Given the description of an element on the screen output the (x, y) to click on. 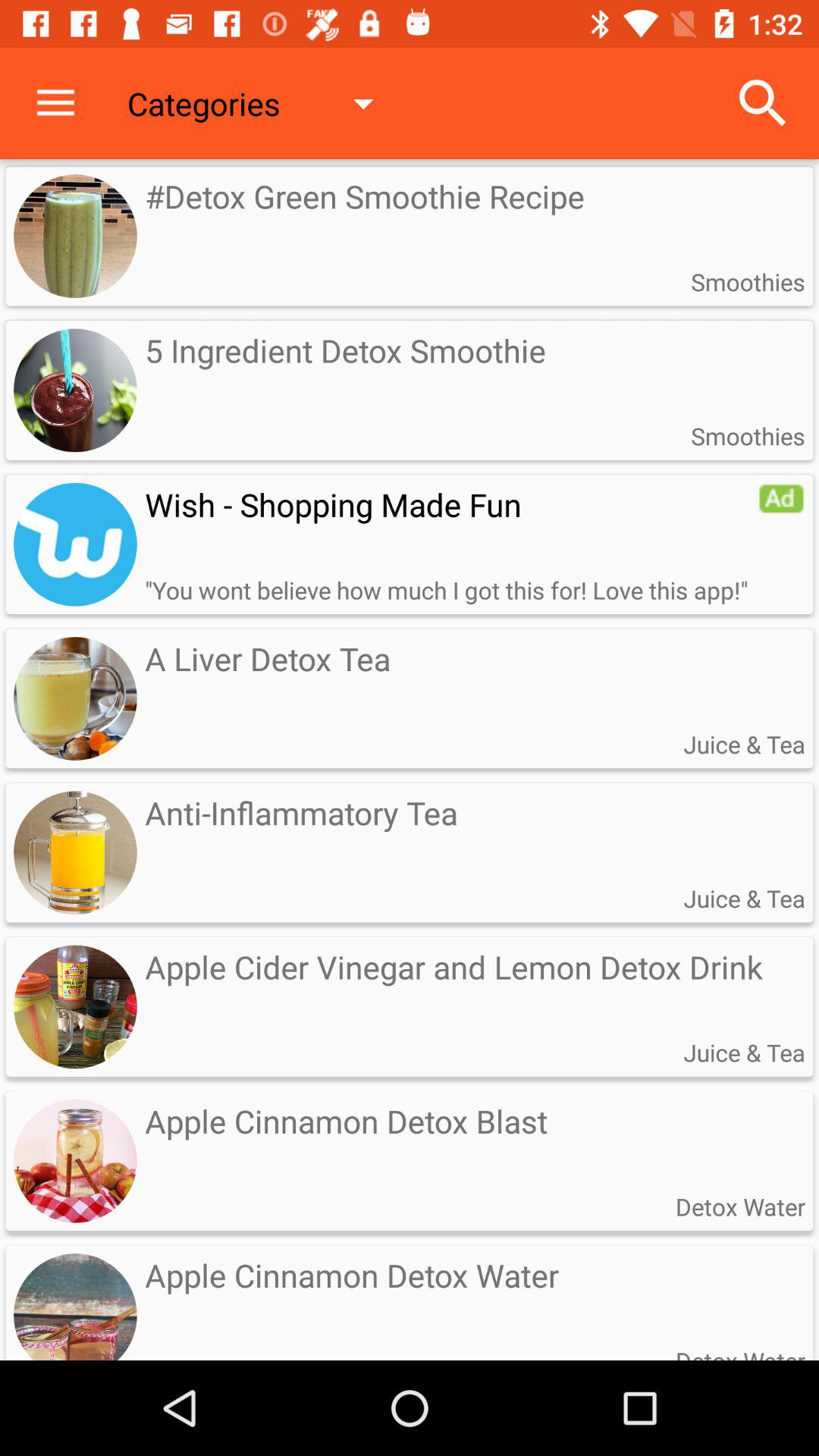
turn off icon next to the categories icon (55, 103)
